Given the description of an element on the screen output the (x, y) to click on. 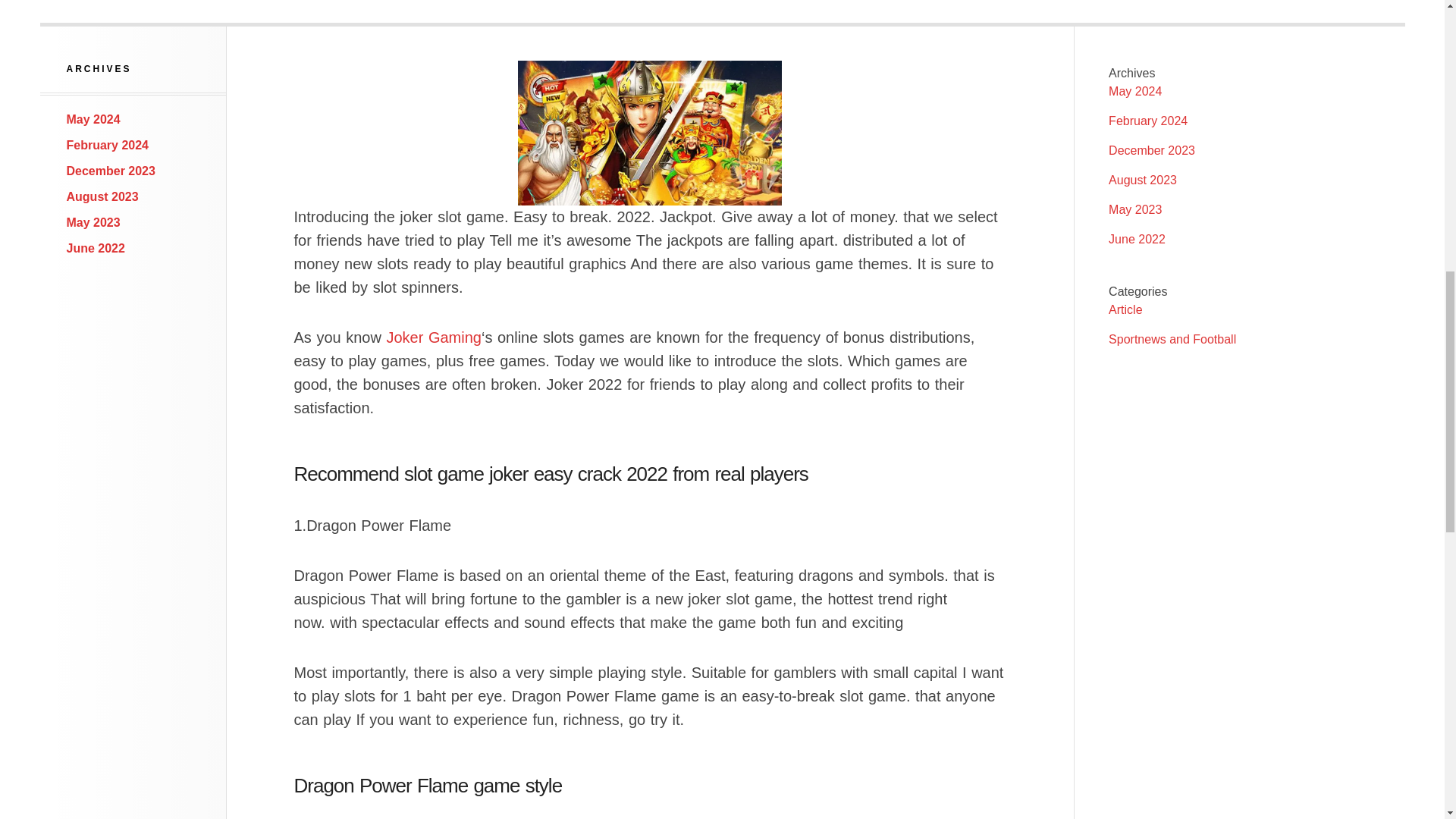
May 2024 (1134, 91)
Sportnews and Football (1172, 338)
August 2023 (1142, 179)
December 2023 (1151, 150)
May 2023 (93, 222)
February 2024 (107, 144)
June 2022 (95, 247)
December 2023 (110, 170)
May 2023 (1134, 209)
Article (1124, 309)
